Given the description of an element on the screen output the (x, y) to click on. 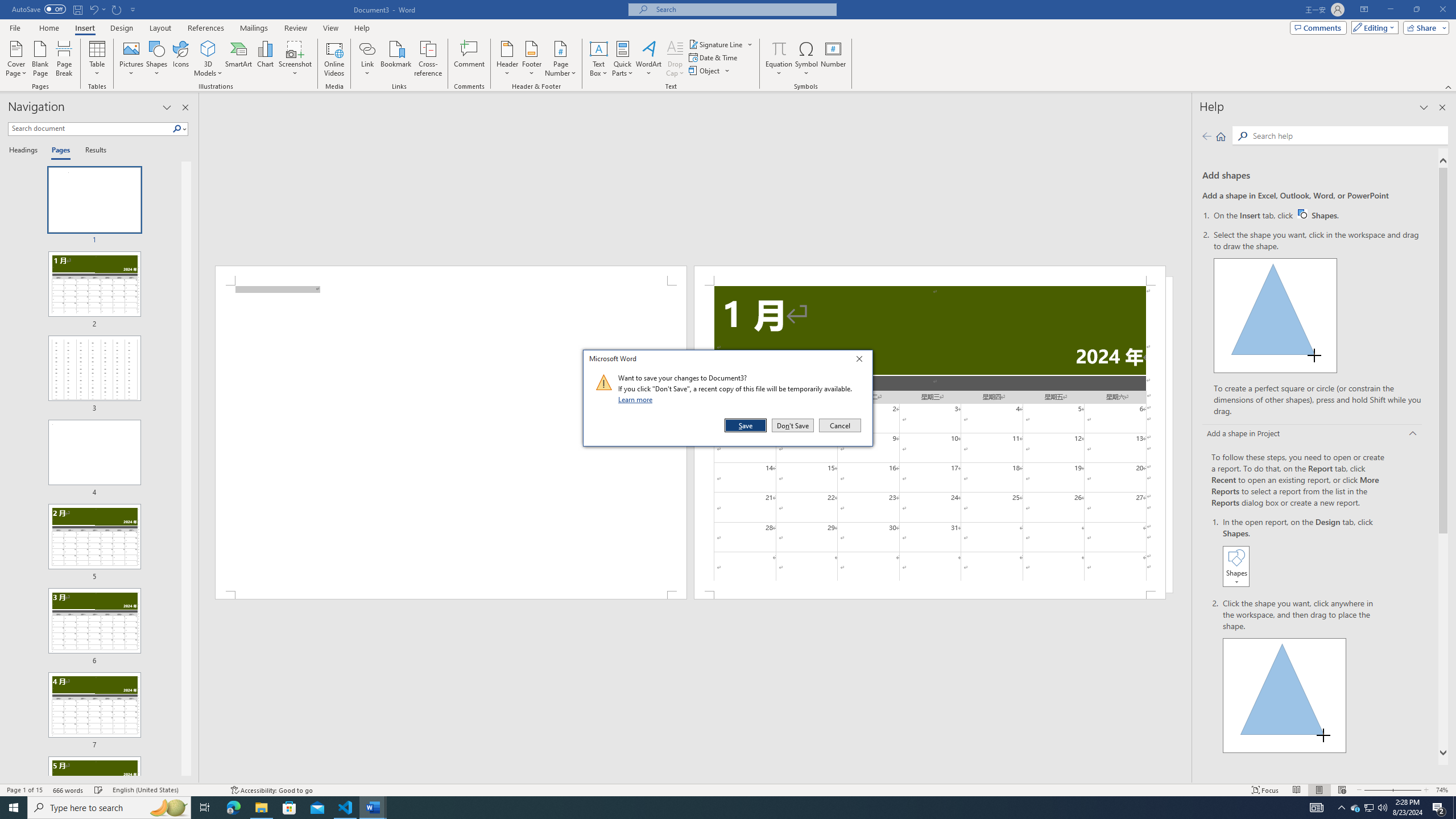
Link (367, 48)
Equation (778, 58)
Microsoft Edge (233, 807)
Bookmark... (396, 58)
Cancel (839, 425)
Page Number Page 1 of 15 (1318, 214)
Microsoft Store (24, 790)
Footer (289, 807)
